Given the description of an element on the screen output the (x, y) to click on. 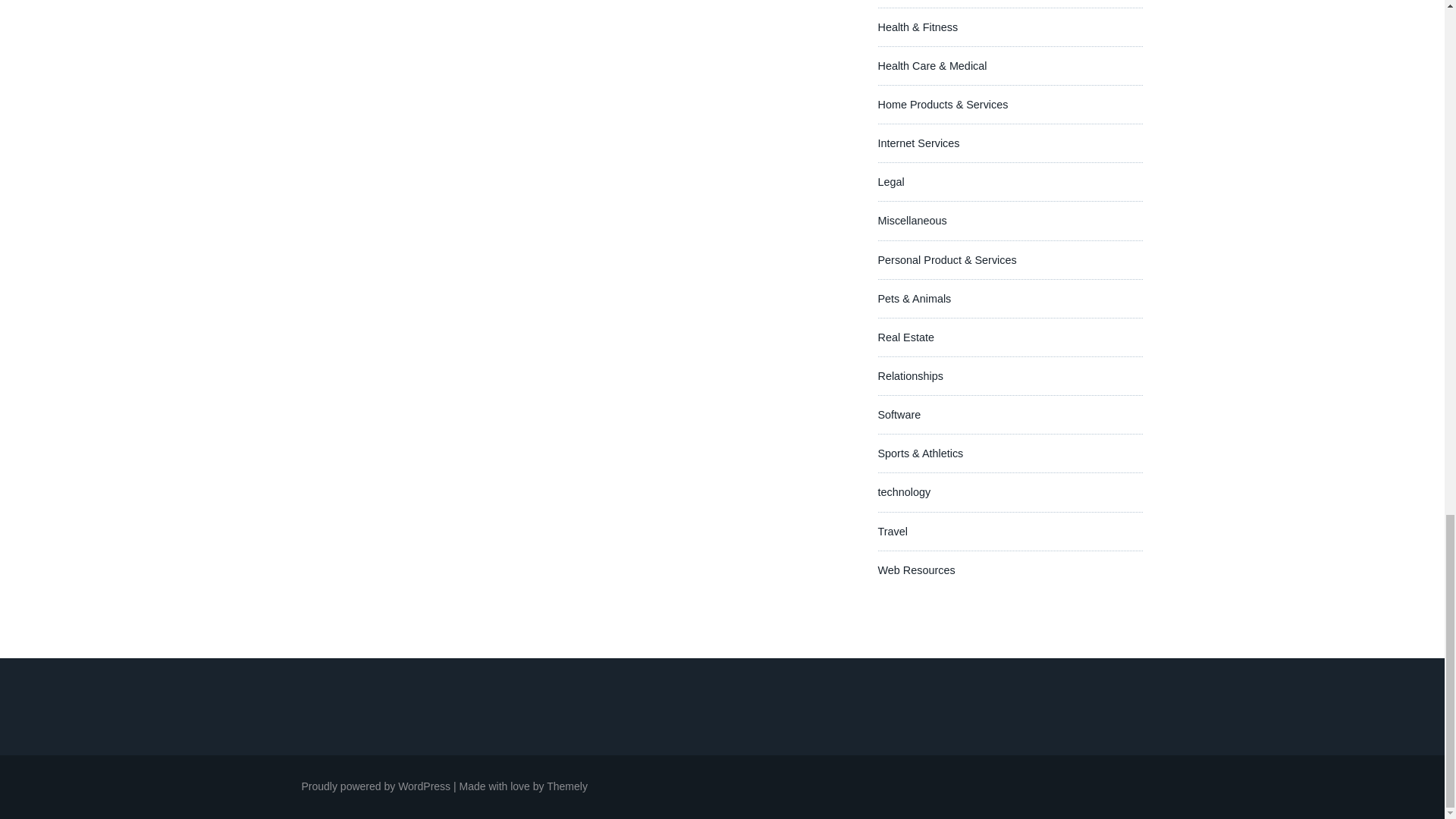
Legal (890, 182)
Internet Services (918, 143)
Miscellaneous (912, 220)
